Given the description of an element on the screen output the (x, y) to click on. 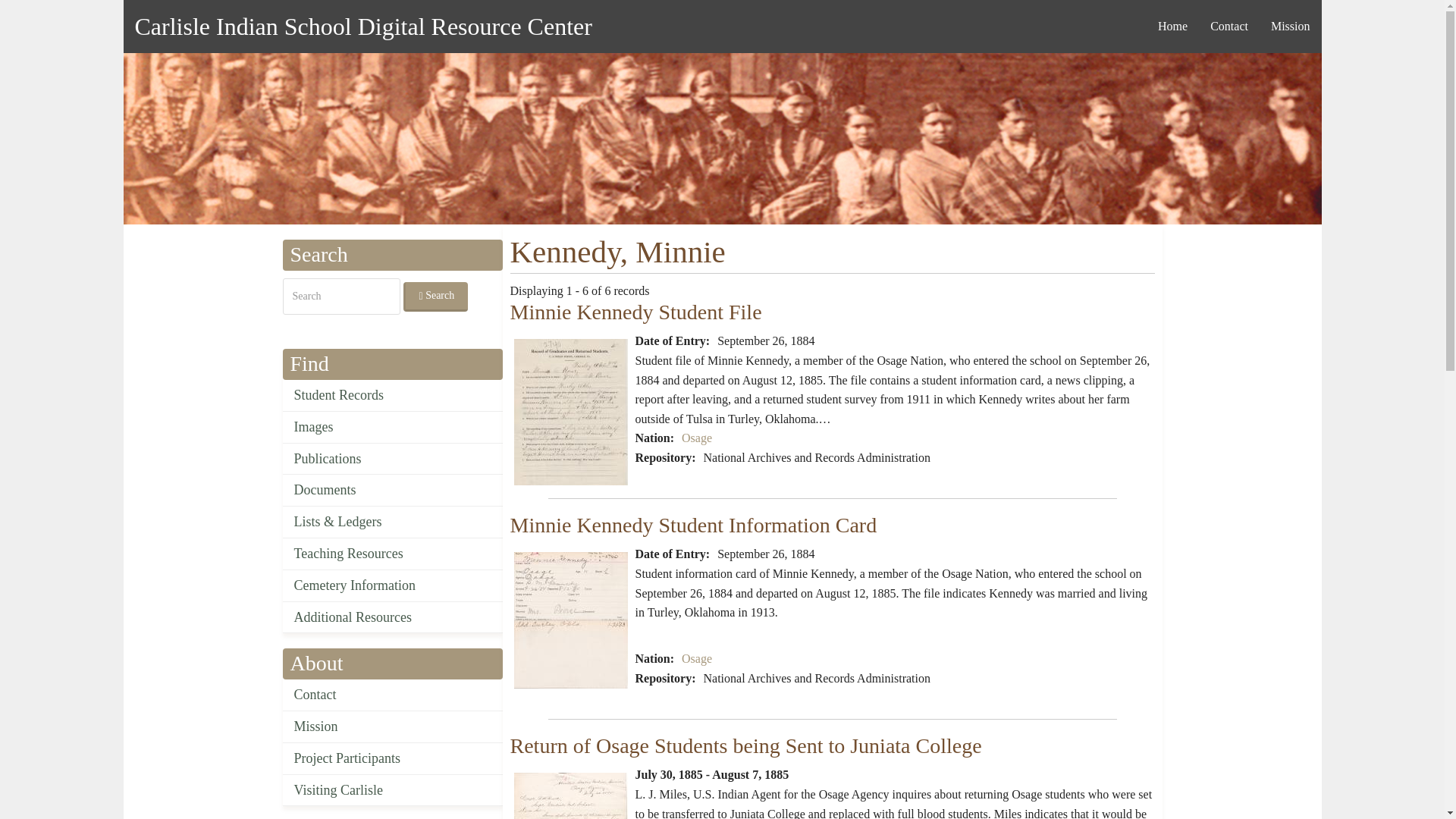
Return of Osage Students being Sent to Juniata College (570, 796)
Mission (392, 726)
Images (392, 427)
Osage (696, 658)
Search (435, 296)
Publications (392, 459)
Project Participants (392, 758)
Minnie Kennedy Student File (635, 311)
Osage (696, 437)
